Given the description of an element on the screen output the (x, y) to click on. 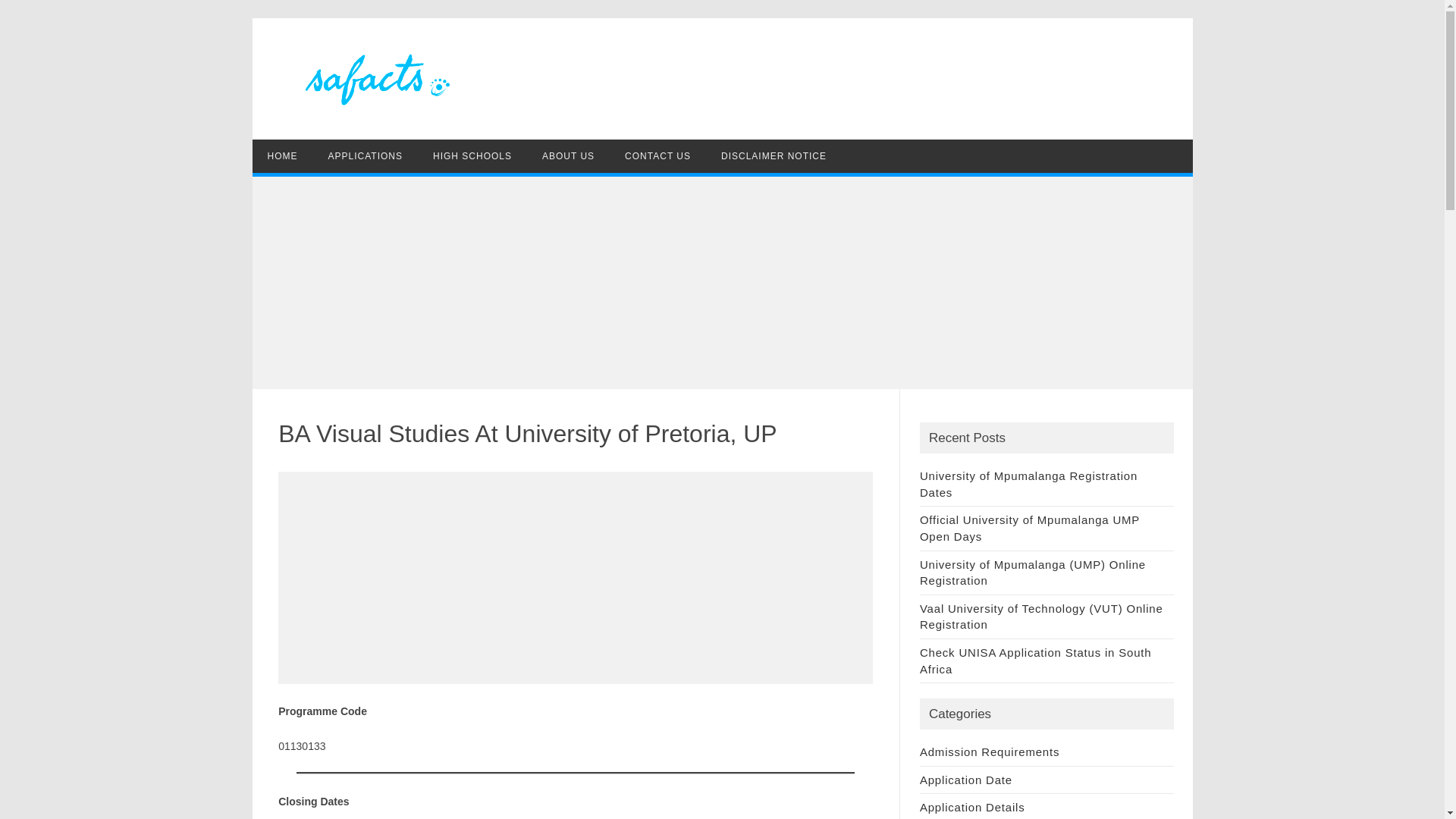
CONTACT US (658, 155)
University of Mpumalanga Registration Dates (1028, 483)
Official University of Mpumalanga UMP Open Days (1030, 527)
DISCLAIMER NOTICE (773, 155)
Admission Requirements (989, 751)
APPLICATIONS (364, 155)
HIGH SCHOOLS (472, 155)
HOME (282, 155)
Advertisement (575, 577)
ABOUT US (568, 155)
Application Date (965, 779)
Check UNISA Application Status in South Africa (1035, 660)
Application Details (972, 807)
